Given the description of an element on the screen output the (x, y) to click on. 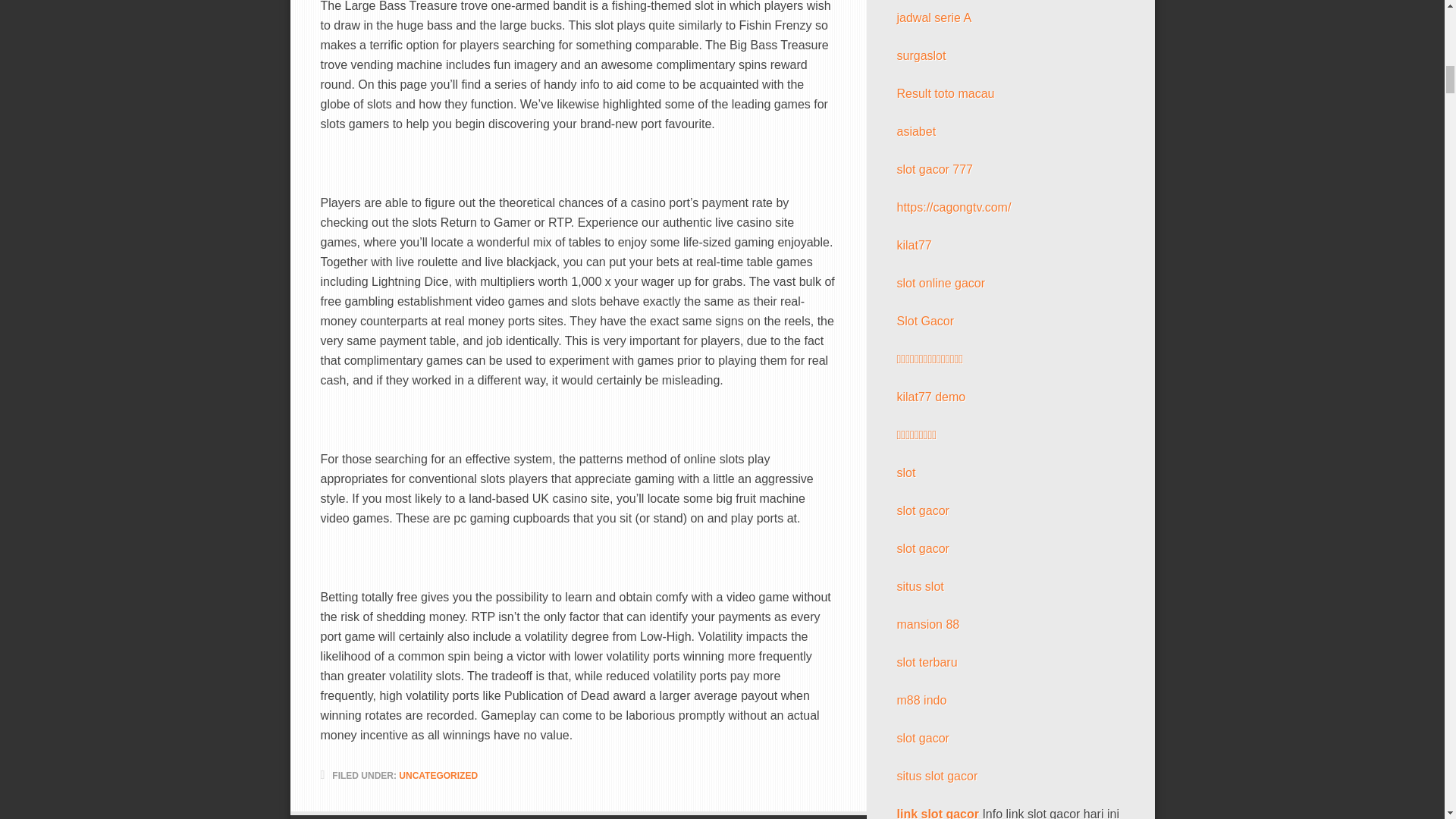
mansion 88 (927, 624)
UNCATEGORIZED (437, 775)
